Given the description of an element on the screen output the (x, y) to click on. 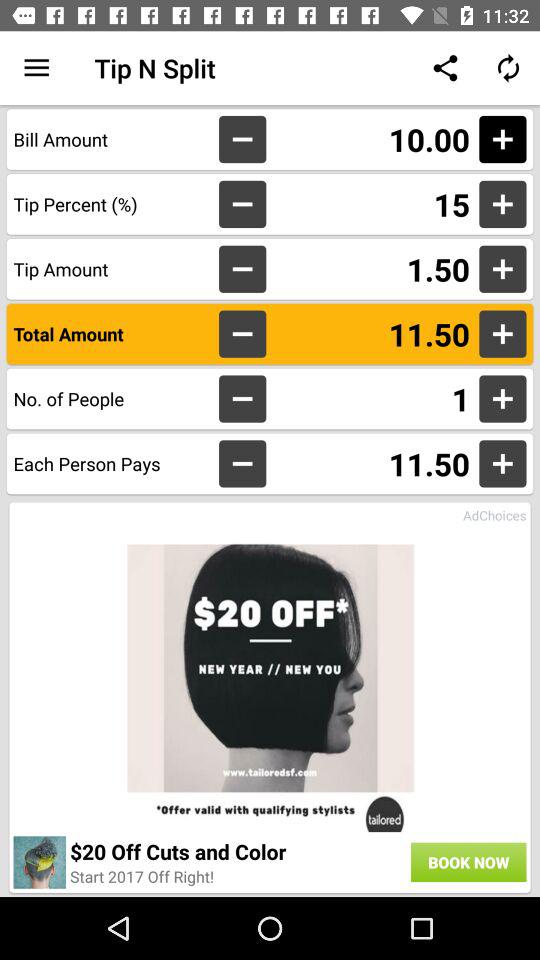
click icon to the left of the book now icon (142, 876)
